Given the description of an element on the screen output the (x, y) to click on. 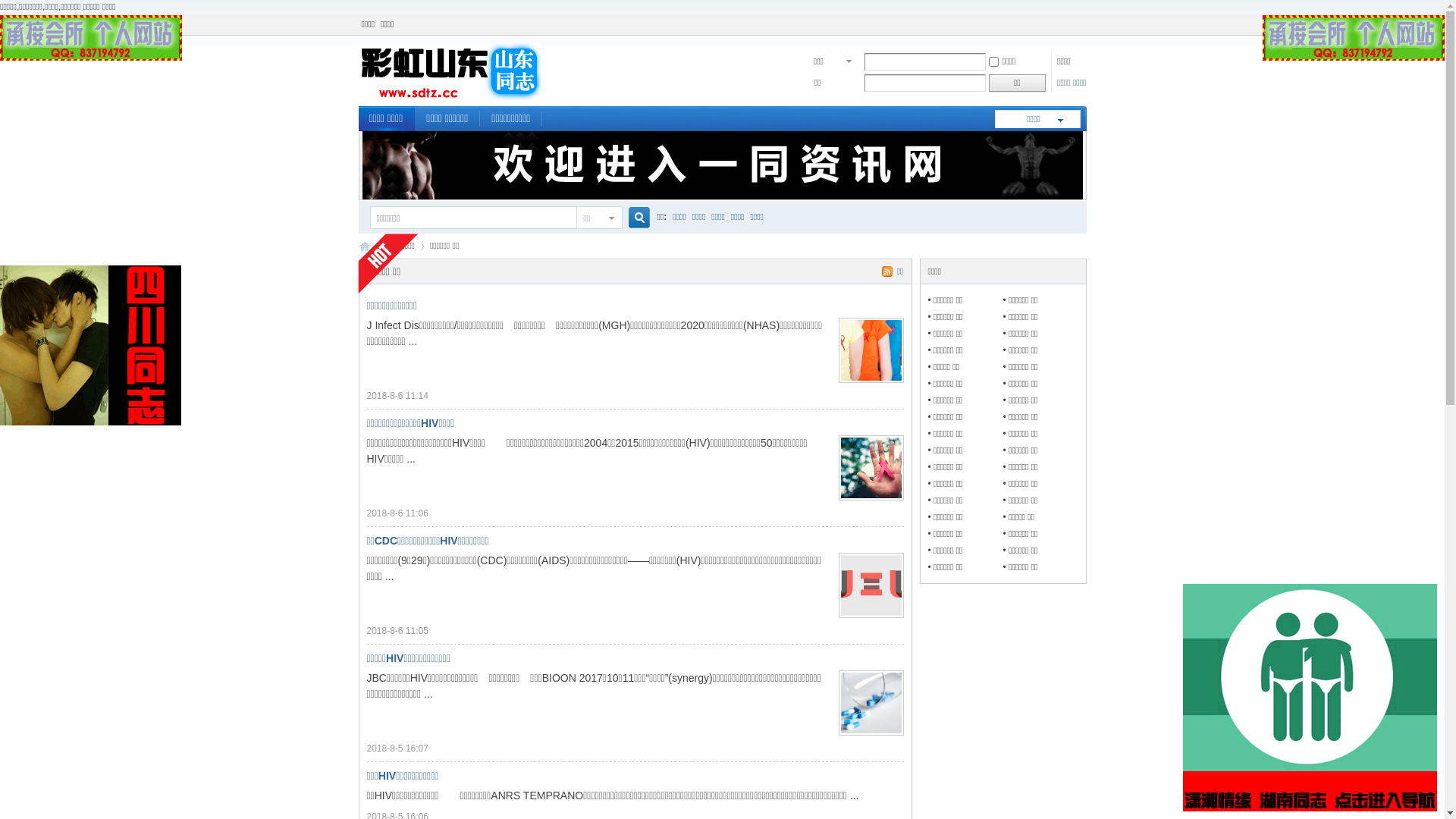
true Element type: text (632, 217)
